Given the description of an element on the screen output the (x, y) to click on. 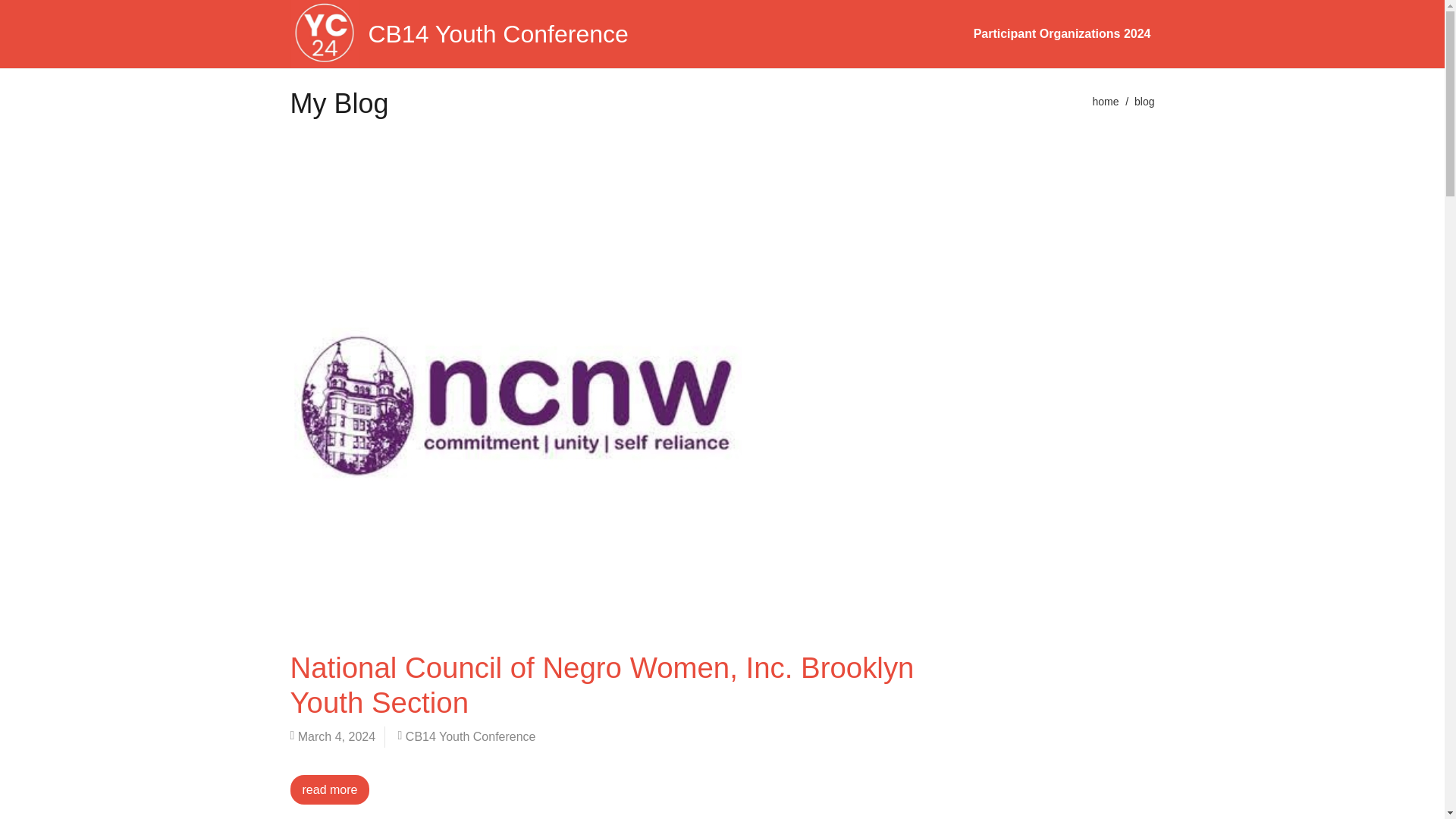
National Council of Negro Women, Inc. Brooklyn Youth Section (601, 685)
CB14 Youth Conference (458, 33)
CB14 Youth Conference (470, 736)
blog (1144, 101)
Participant Organizations 2024 (1062, 33)
read more (329, 789)
home (1105, 101)
